Given the description of an element on the screen output the (x, y) to click on. 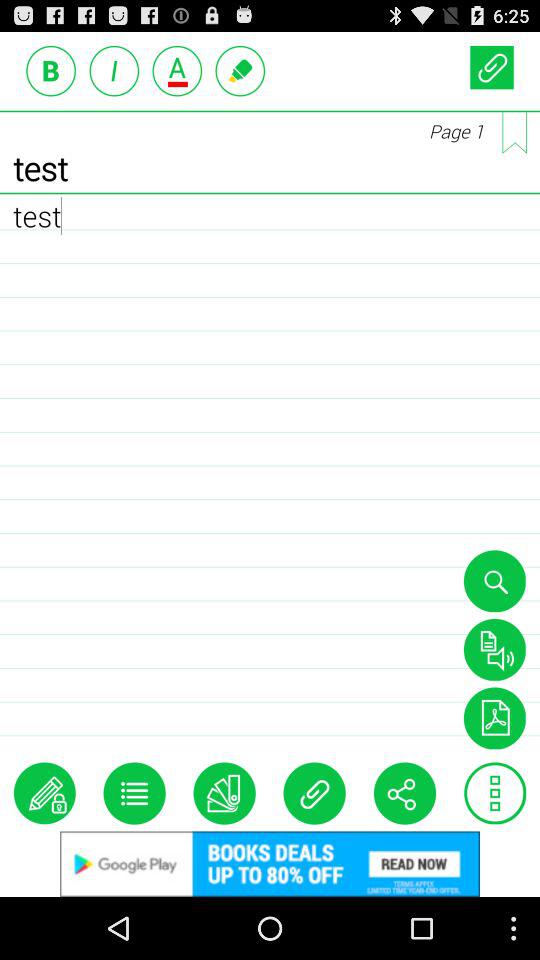
insert file (314, 793)
